Given the description of an element on the screen output the (x, y) to click on. 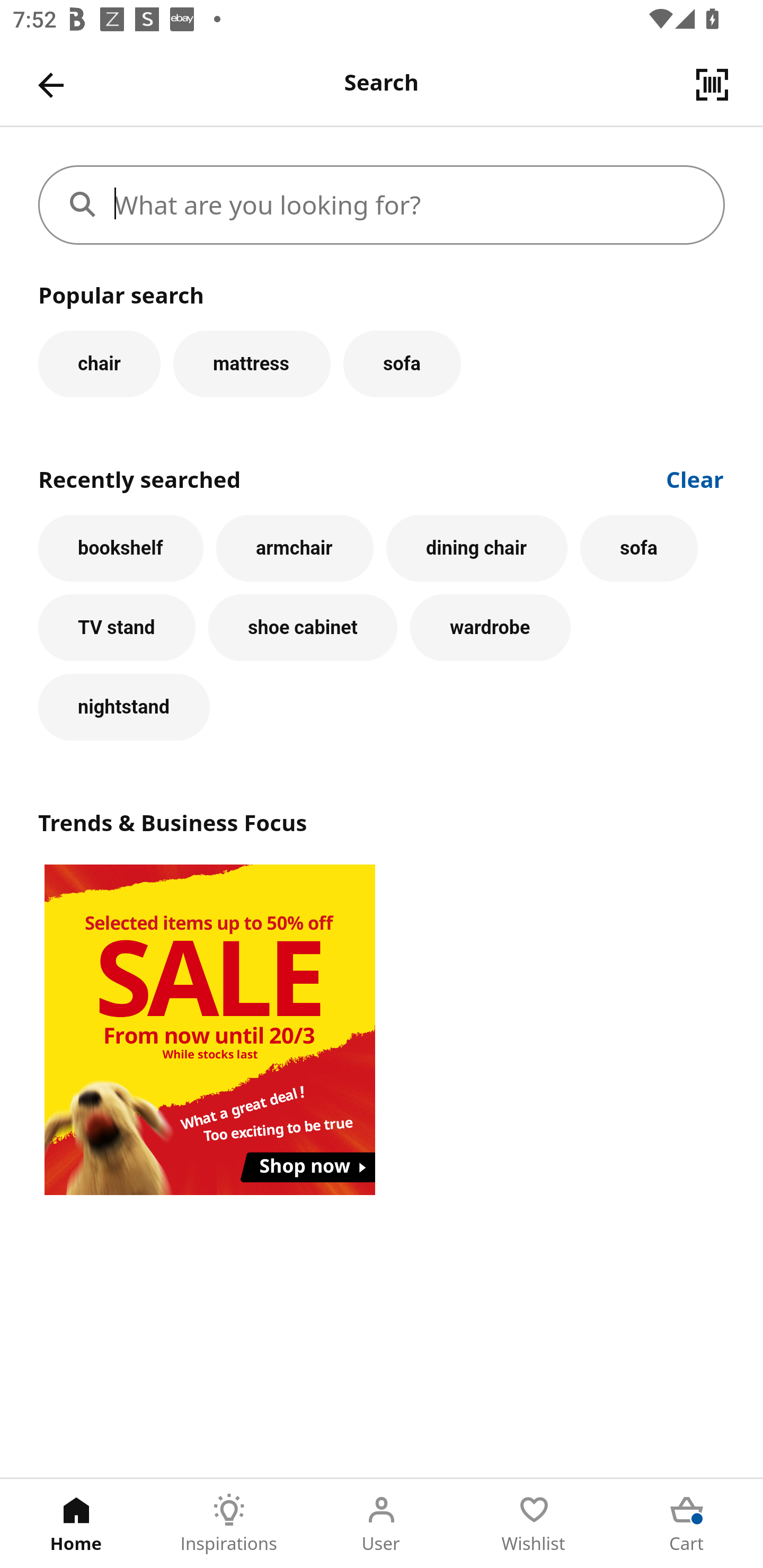
chair (99, 363)
mattress (251, 363)
sofa (401, 363)
Clear (695, 477)
bookshelf (120, 547)
armchair (294, 547)
dining chair (476, 547)
sofa (638, 547)
TV stand (116, 627)
shoe cabinet (302, 627)
wardrobe (490, 627)
nightstand (123, 707)
Home
Tab 1 of 5 (76, 1522)
Inspirations
Tab 2 of 5 (228, 1522)
User
Tab 3 of 5 (381, 1522)
Wishlist
Tab 4 of 5 (533, 1522)
Cart
Tab 5 of 5 (686, 1522)
